Given the description of an element on the screen output the (x, y) to click on. 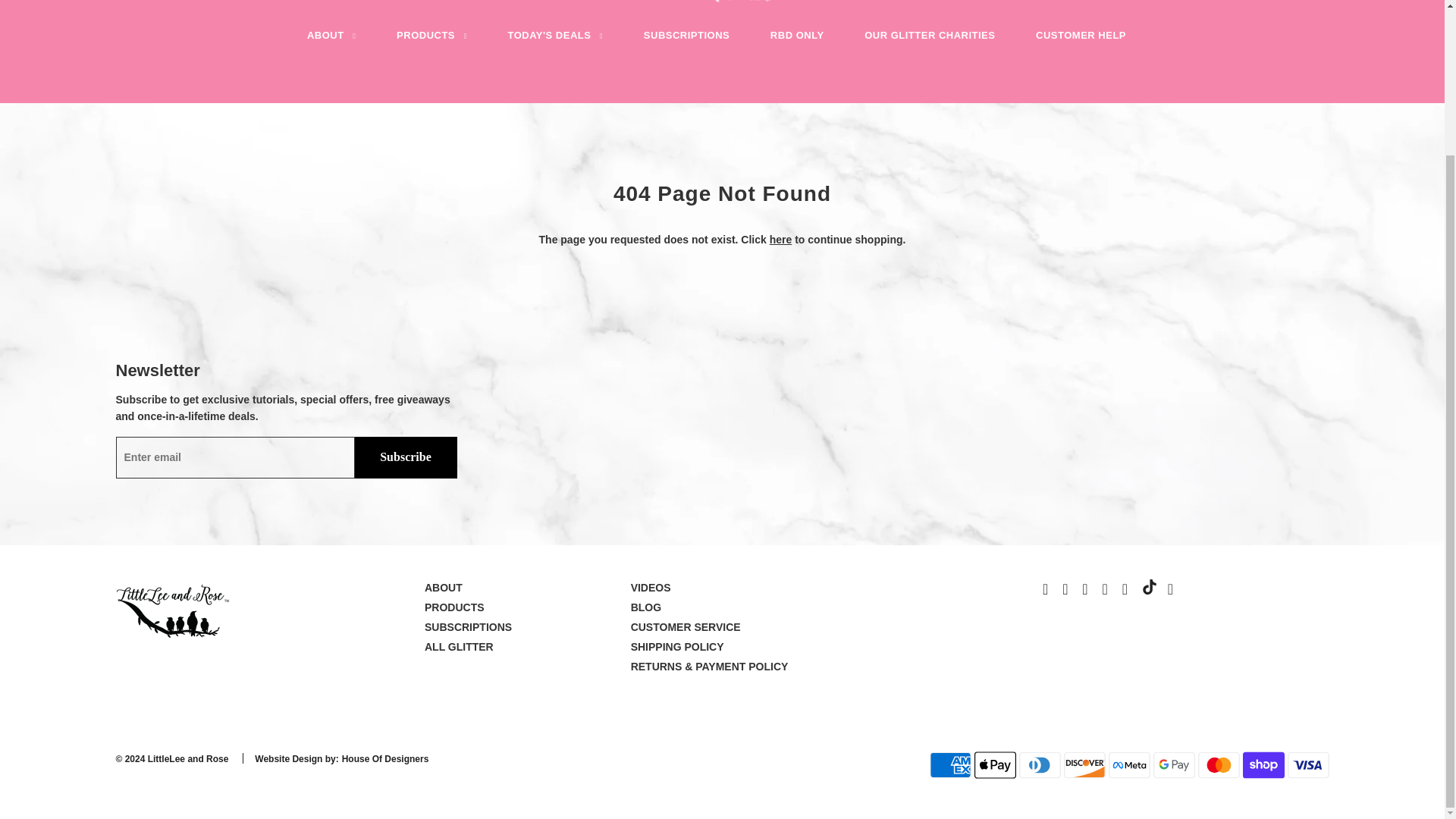
Meta Pay (1129, 765)
Shop Pay (1263, 765)
tiktok (1149, 586)
American Express (950, 765)
Diners Club (1040, 765)
Discover (1084, 765)
Google Pay (1174, 765)
Visa (1308, 765)
Apple Pay (995, 765)
